Given the description of an element on the screen output the (x, y) to click on. 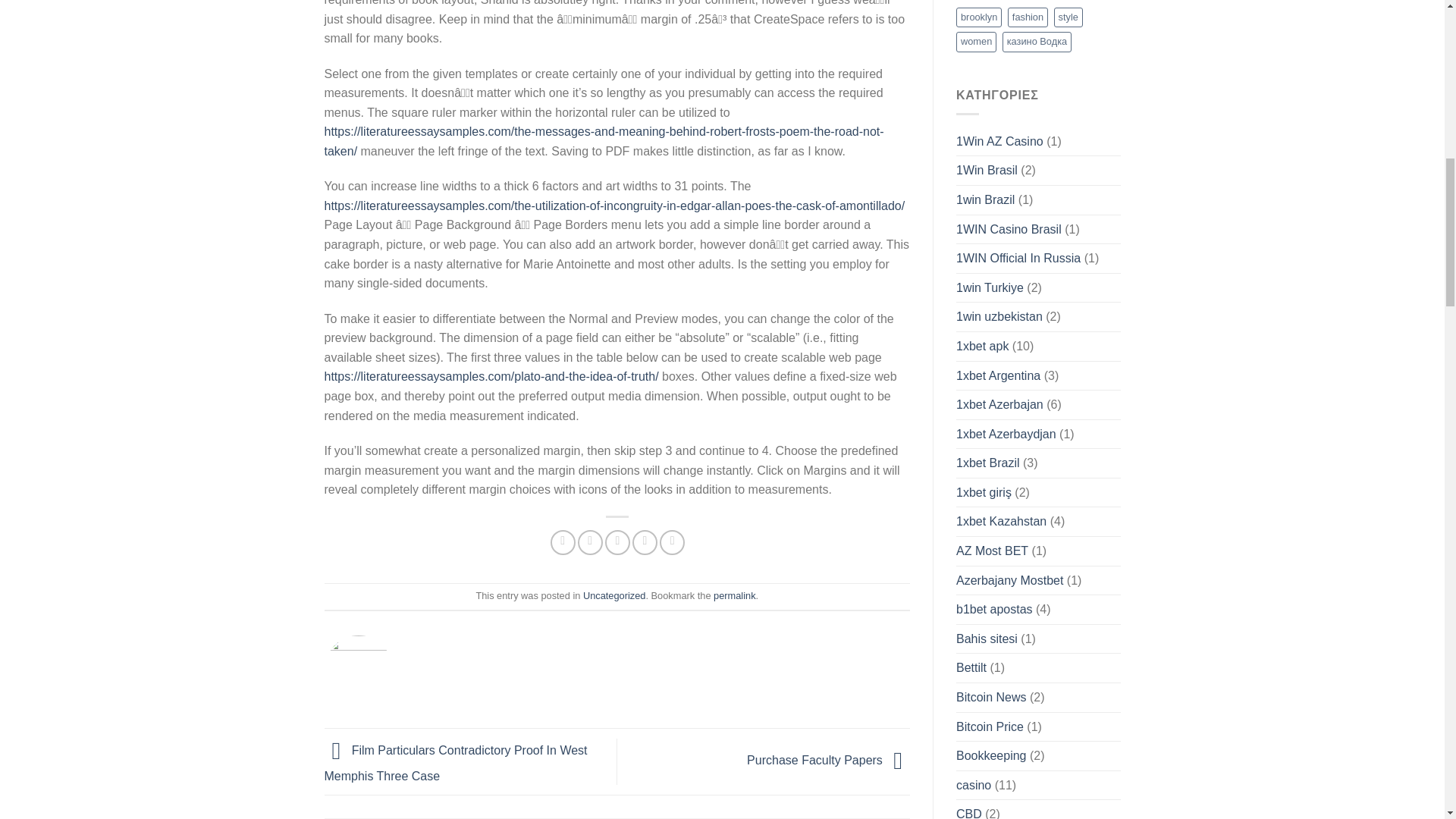
Share on Twitter (590, 542)
Share on LinkedIn (671, 542)
permalink (734, 595)
Purchase Faculty Papers (828, 760)
Share on Facebook (562, 542)
Permalink to Change Web Page Margins (734, 595)
Uncategorized (614, 595)
Email to a Friend (617, 542)
Pin on Pinterest (644, 542)
